Given the description of an element on the screen output the (x, y) to click on. 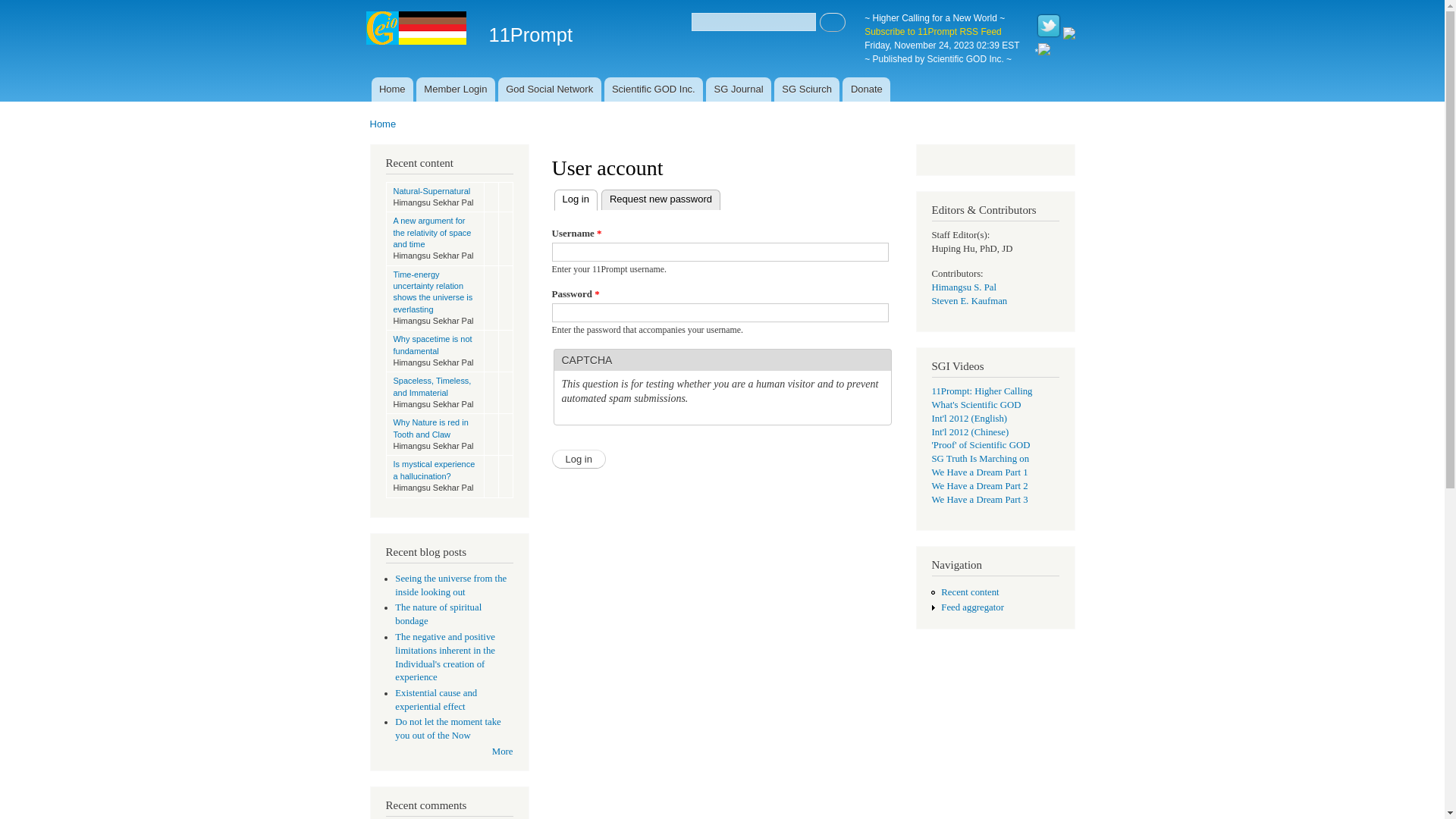
The nature of spiritual bondage Element type: text (438, 614)
Enter the terms you wish to search for. Element type: hover (753, 21)
SG Journal Element type: text (738, 88)
God Social Network Element type: text (549, 88)
Skip to main content Element type: text (690, 1)
Request new password Element type: text (660, 199)
Why Nature is red in Tooth and Claw Element type: text (429, 427)
'Proof' of Scientific GOD Element type: text (980, 444)
SG Truth Is Marching on Element type: text (980, 458)
11Prompt Element type: text (530, 34)
Do not let the moment take you out of the Now Element type: text (448, 728)
Log in Element type: text (578, 458)
SG Sciurch Element type: text (807, 88)
More Element type: text (502, 751)
Home Element type: text (383, 123)
Feed aggregator Element type: text (972, 607)
Steven E. Kaufman Element type: text (969, 300)
What's Scientific GOD Element type: text (975, 404)
Home Element type: text (392, 88)
Seeing the universe from the inside looking out Element type: text (450, 585)
Search Element type: text (832, 21)
Existential cause and experiential effect Element type: text (435, 699)
Int'l 2012 (Chinese) Element type: text (969, 431)
Home Element type: hover (416, 30)
Scientific GOD Inc. Element type: text (653, 88)
Himangsu S. Pal Element type: text (963, 287)
Log in
(active tab) Element type: text (574, 199)
Spaceless, Timeless, and Immaterial Element type: text (431, 386)
Int'l 2012 (English) Element type: text (969, 418)
Why spacetime is not fundamental Element type: text (431, 344)
Subscribe to 11Prompt RSS Feed Element type: text (932, 31)
11Prompt: Higher Calling Element type: text (981, 390)
Donate Element type: text (866, 88)
A new argument for the relativity of space and time Element type: text (431, 232)
We Have a Dream Part 1 Element type: text (979, 472)
Member Login Element type: text (455, 88)
We Have a Dream Part 3 Element type: text (979, 499)
Natural-Supernatural Element type: text (431, 190)
We Have a Dream Part 2 Element type: text (979, 485)
Recent content Element type: text (969, 591)
Is mystical experience a hallucination? Element type: text (433, 469)
